Given the description of an element on the screen output the (x, y) to click on. 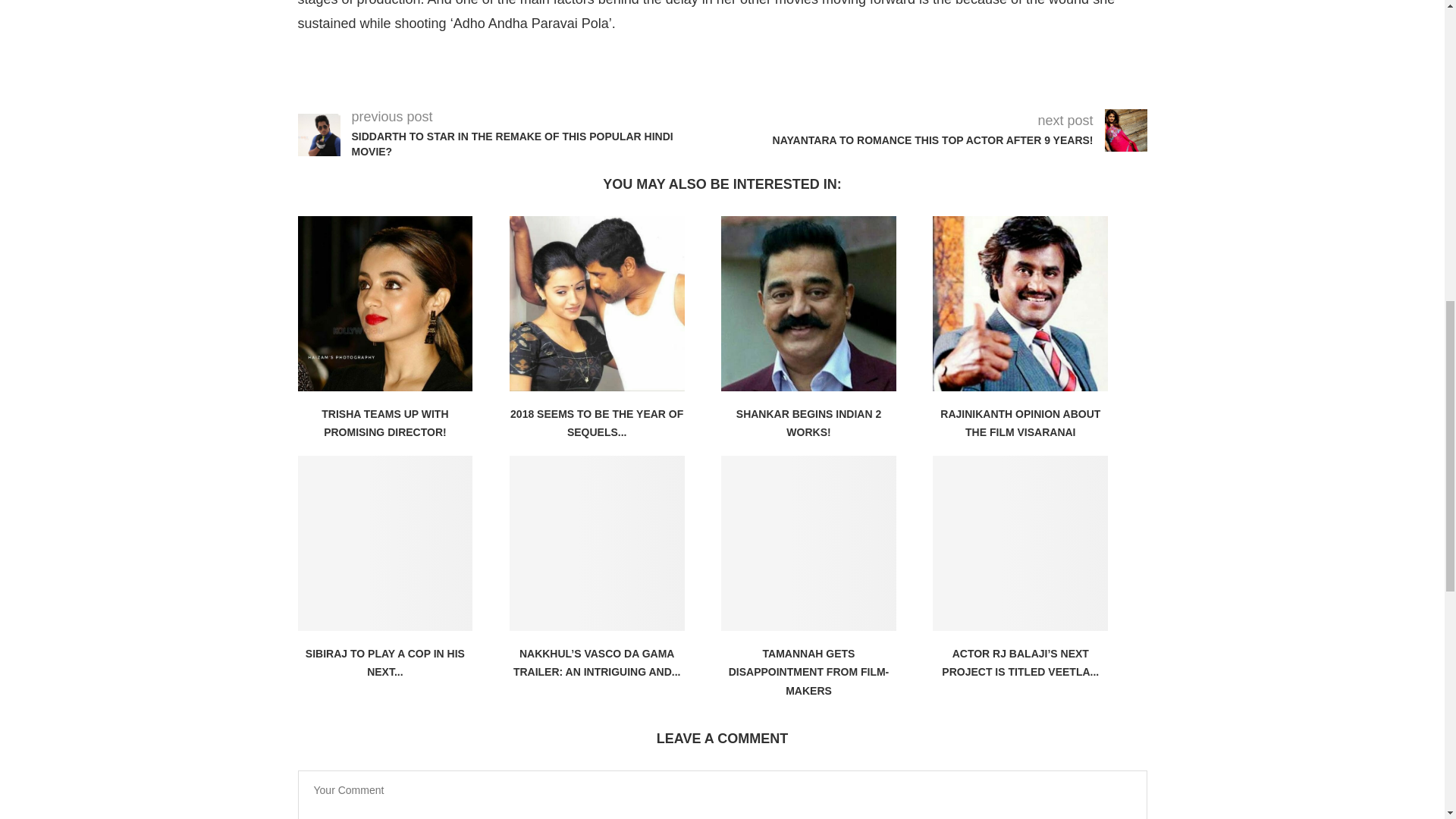
Tamannah gets disappointment from film-makers (808, 542)
RAJINIKANTH OPINION ABOUT THE FILM VISARANAI (1020, 422)
TRISHA TEAMS UP WITH PROMISING DIRECTOR! (384, 422)
SIDDARTH TO STAR IN THE REMAKE OF THIS POPULAR HINDI MOVIE? (537, 143)
TAMANNAH GETS DISAPPOINTMENT FROM FILM-MAKERS (809, 671)
SIBIRAJ TO PLAY A COP IN HIS NEXT... (384, 662)
Trisha teams up with promising director! (384, 303)
SHANKAR BEGINS INDIAN 2 WORKS! (808, 422)
NAYANTARA TO ROMANCE THIS TOP ACTOR AFTER 9 YEARS! (923, 140)
Shankar begins Indian 2 works! (808, 303)
